Given the description of an element on the screen output the (x, y) to click on. 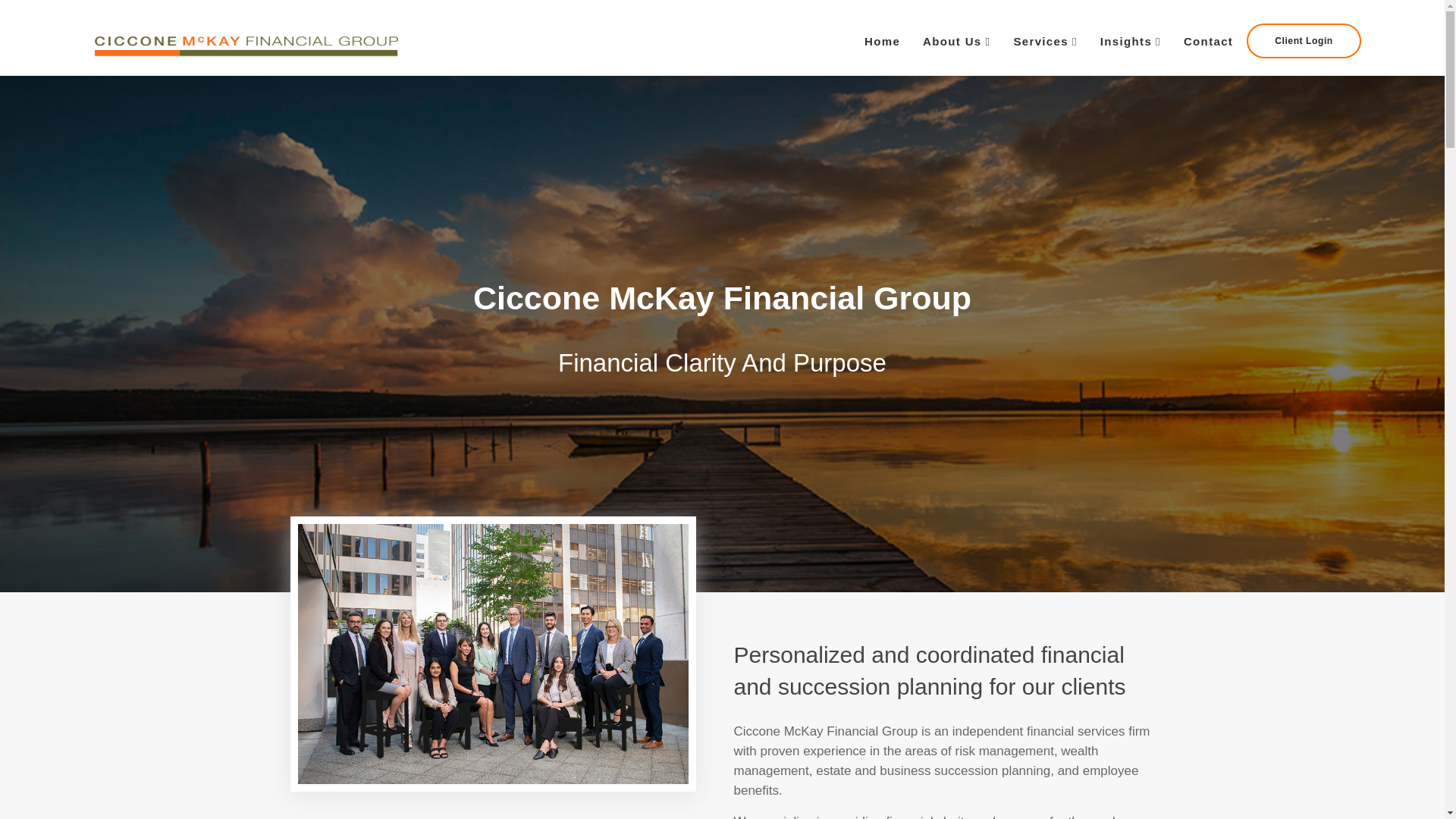
Services (1044, 41)
About Us (956, 41)
Contact (1208, 41)
Client Login (1303, 40)
Insights (1130, 41)
